Given the description of an element on the screen output the (x, y) to click on. 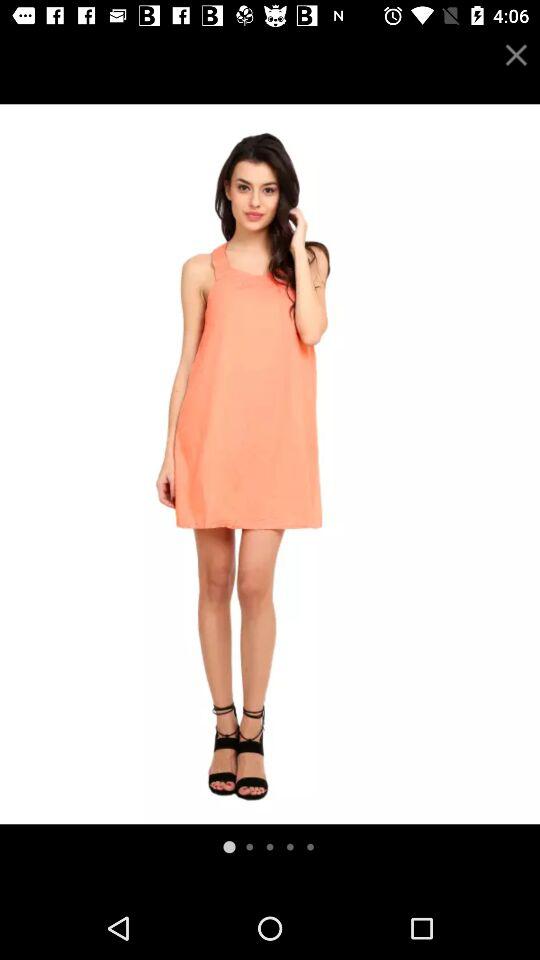
exit screen (516, 54)
